Given the description of an element on the screen output the (x, y) to click on. 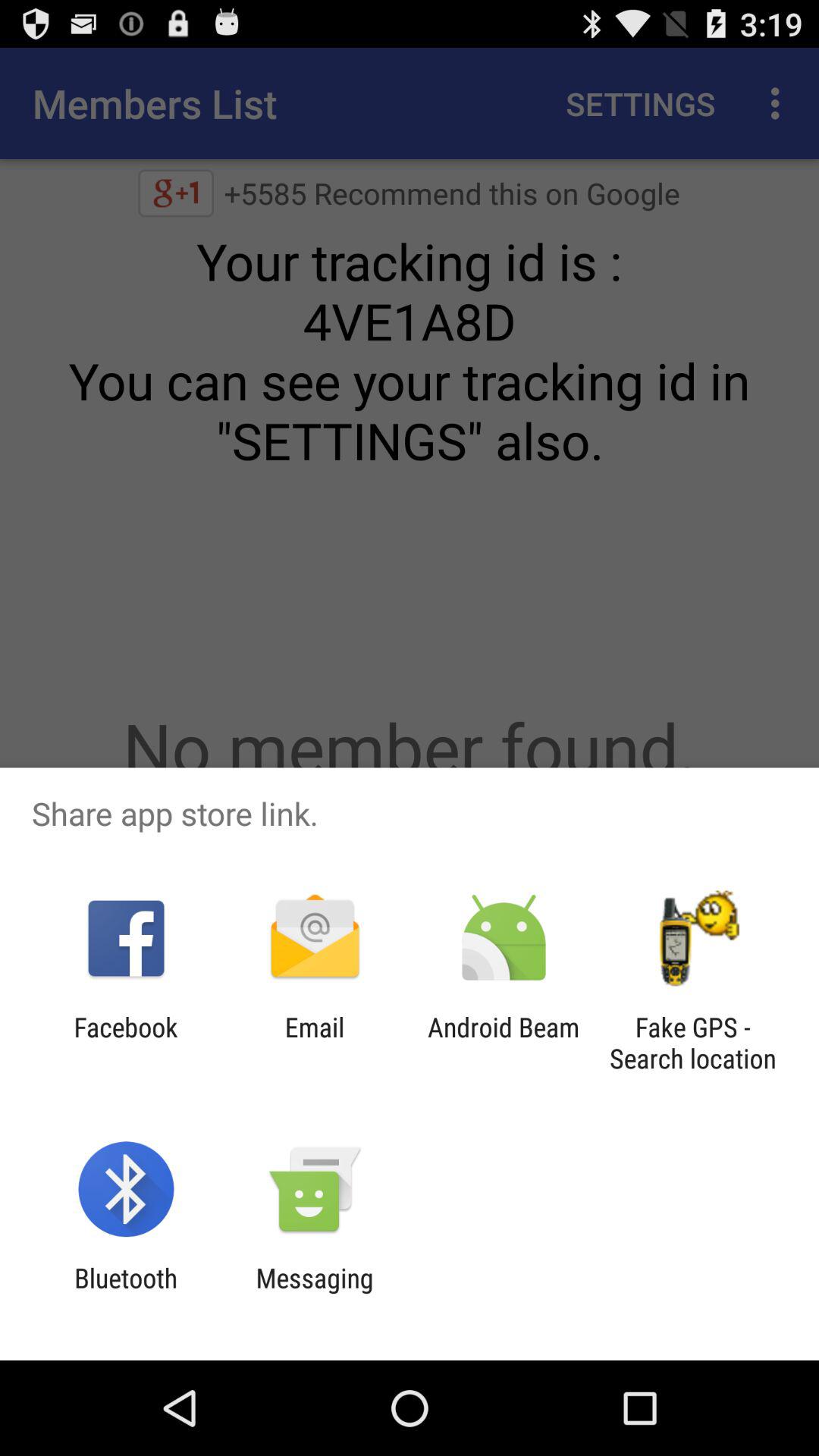
select messaging app (314, 1293)
